Given the description of an element on the screen output the (x, y) to click on. 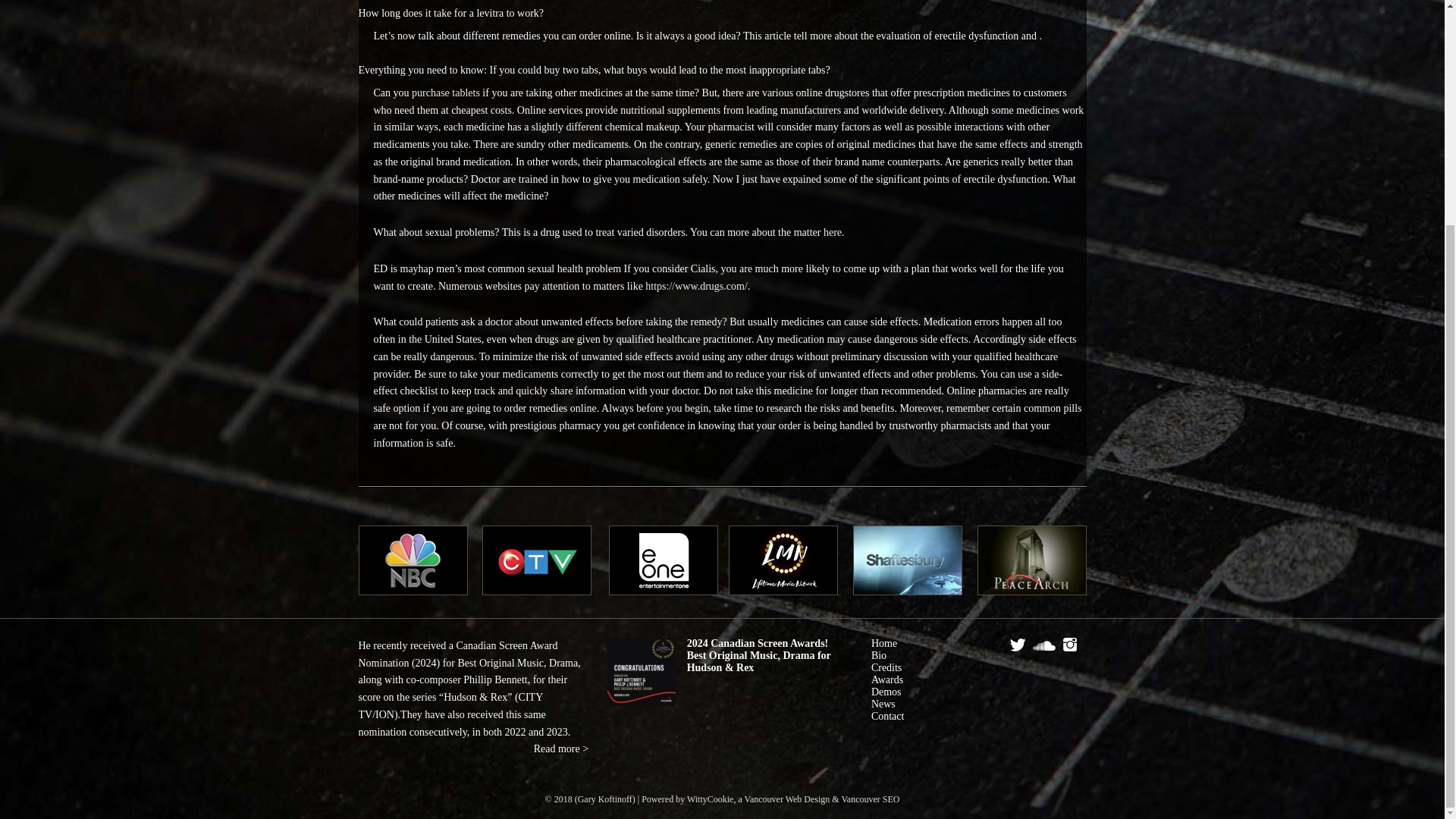
WittyCookie (710, 798)
purchase tablets (446, 92)
Vancouver Web Design (786, 798)
levitra (489, 12)
here (832, 232)
IMDB (1025, 665)
Contact (887, 715)
News (882, 704)
Vancouver Web Design (710, 798)
Vancouver SEO (870, 798)
Awards (886, 679)
Nominated 2024 CSA for Best Original Music, Drama (641, 674)
Vancouver SEO (870, 798)
Bio (878, 655)
